Given the description of an element on the screen output the (x, y) to click on. 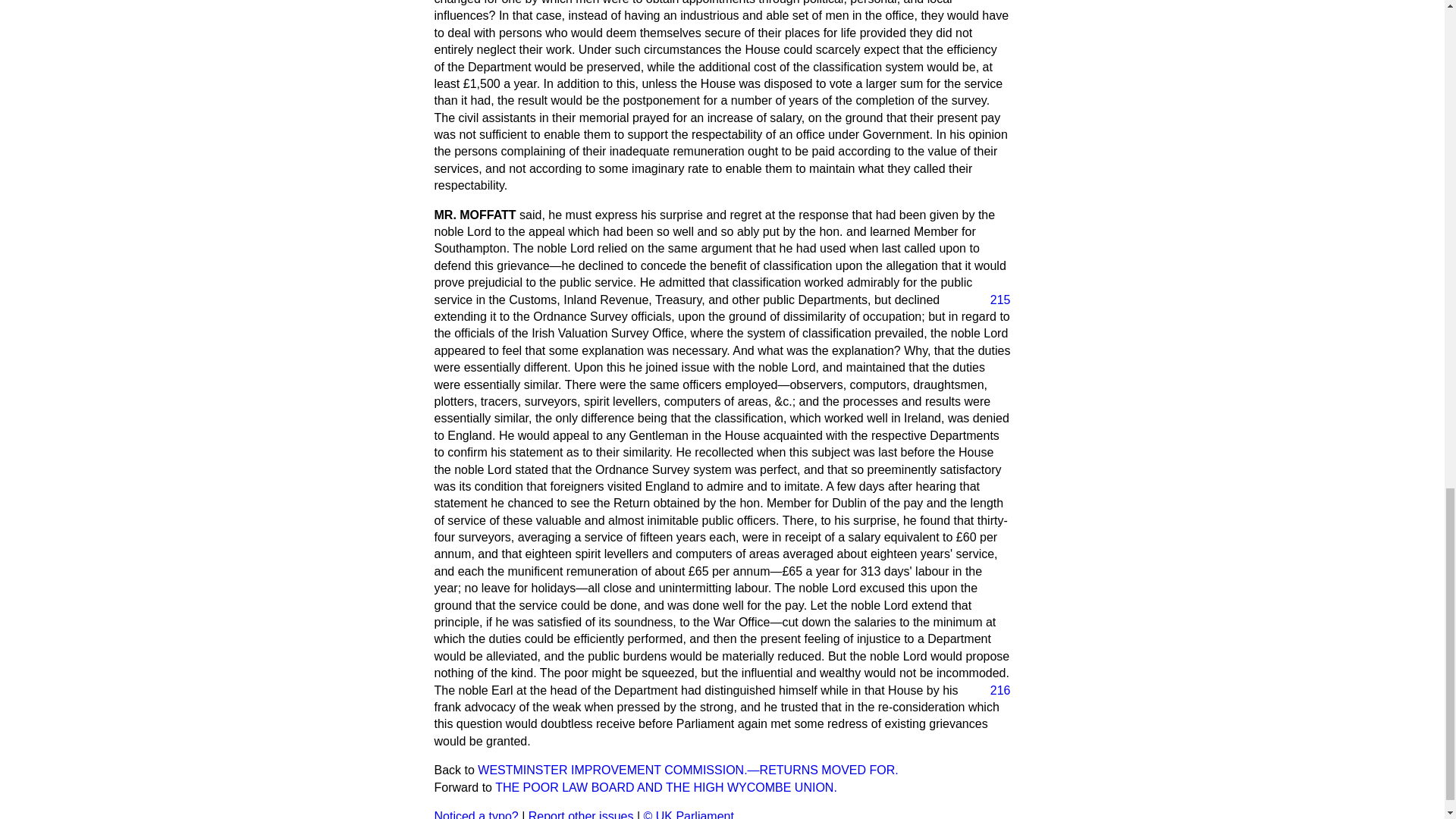
216 (994, 690)
THE POOR LAW BOARD AND THE HIGH WYCOMBE UNION. (666, 787)
215 (994, 299)
